Given the description of an element on the screen output the (x, y) to click on. 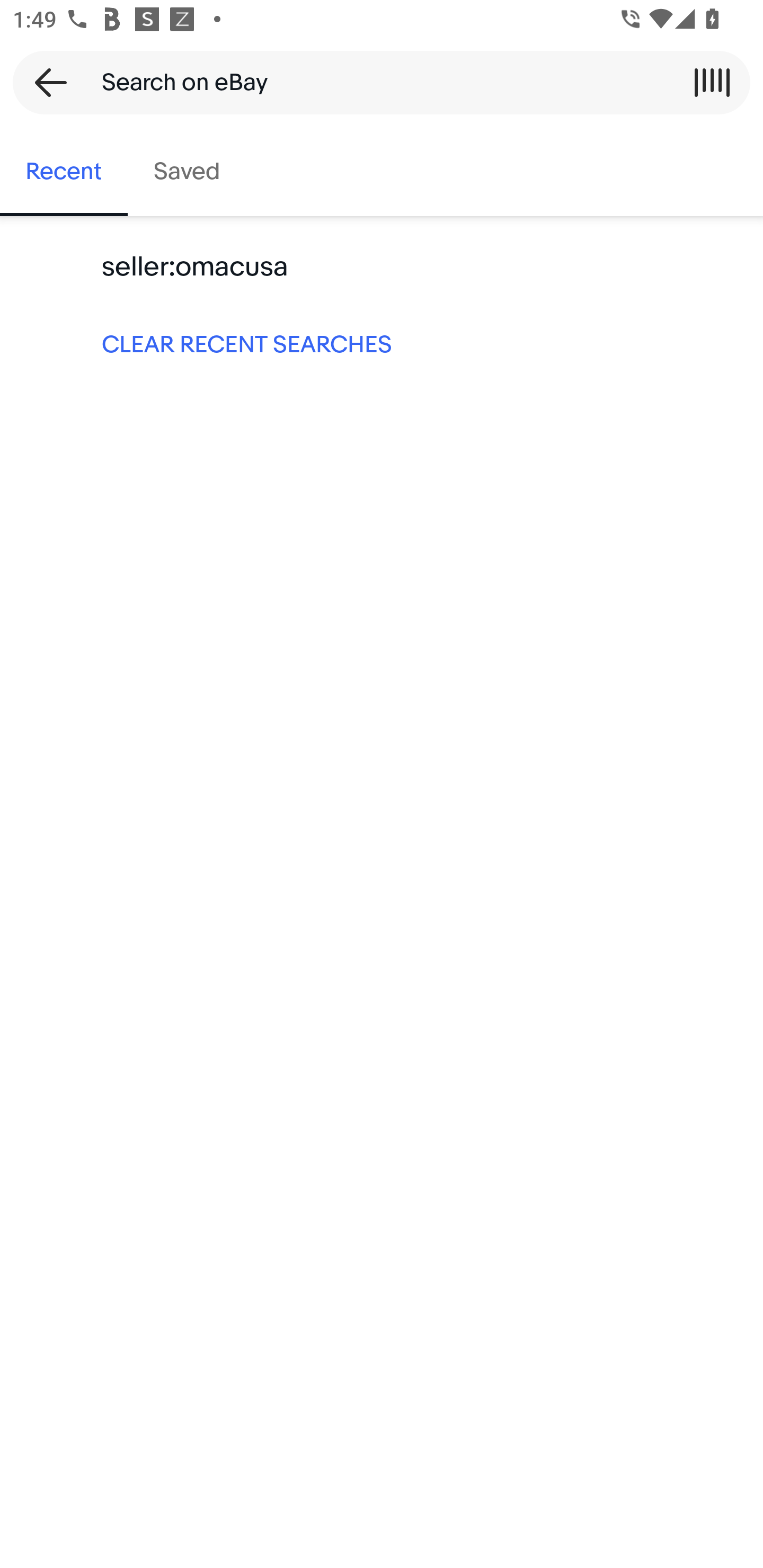
Back (44, 82)
Scan a barcode (711, 82)
Search on eBay (375, 82)
Saved, tab 2 of 2 Saved (186, 171)
seller:omacusa Keyword search seller:omacusa: (381, 266)
CLEAR RECENT SEARCHES (381, 343)
